Given the description of an element on the screen output the (x, y) to click on. 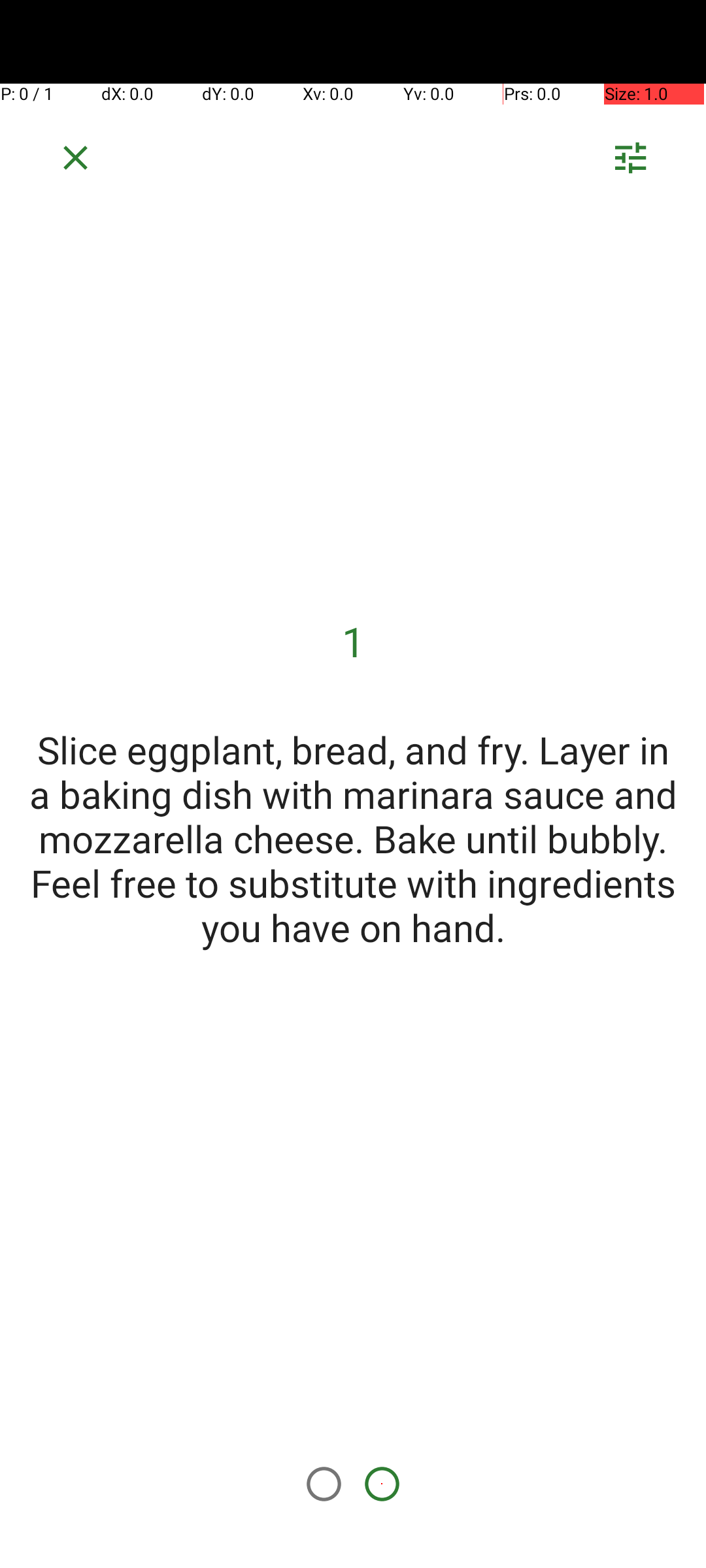
Slice eggplant, bread, and fry. Layer in a baking dish with marinara sauce and mozzarella cheese. Bake until bubbly. Feel free to substitute with ingredients you have on hand. Element type: android.widget.TextView (352, 837)
